Given the description of an element on the screen output the (x, y) to click on. 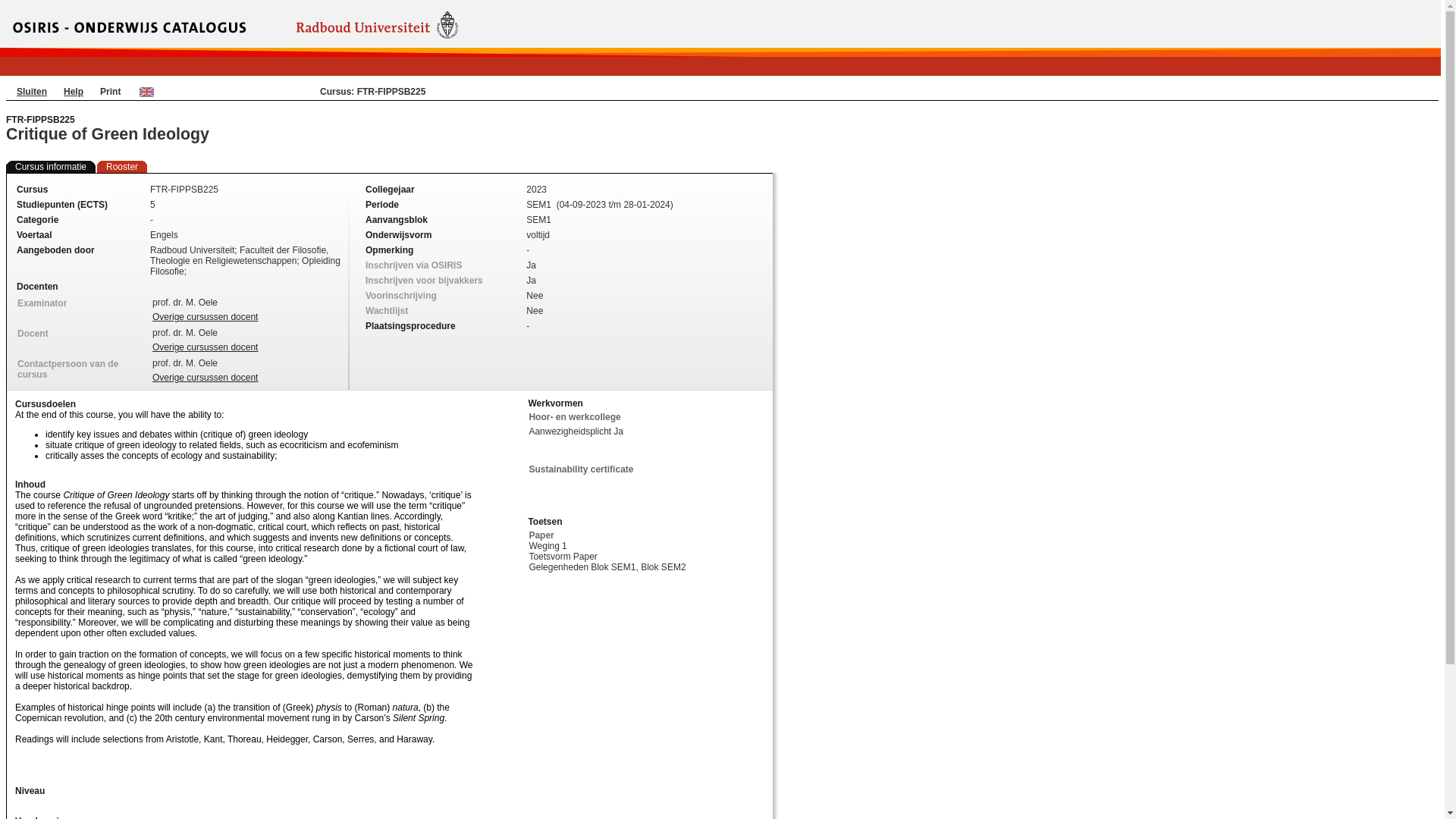
Overige cursussen docent (204, 377)
Overige cursussen docent (204, 347)
Help (73, 91)
Switch to English (146, 91)
Print (110, 91)
Rooster (122, 166)
Overige cursussen docent (204, 317)
Sluiten (31, 91)
Cursus informatie (49, 166)
